Given the description of an element on the screen output the (x, y) to click on. 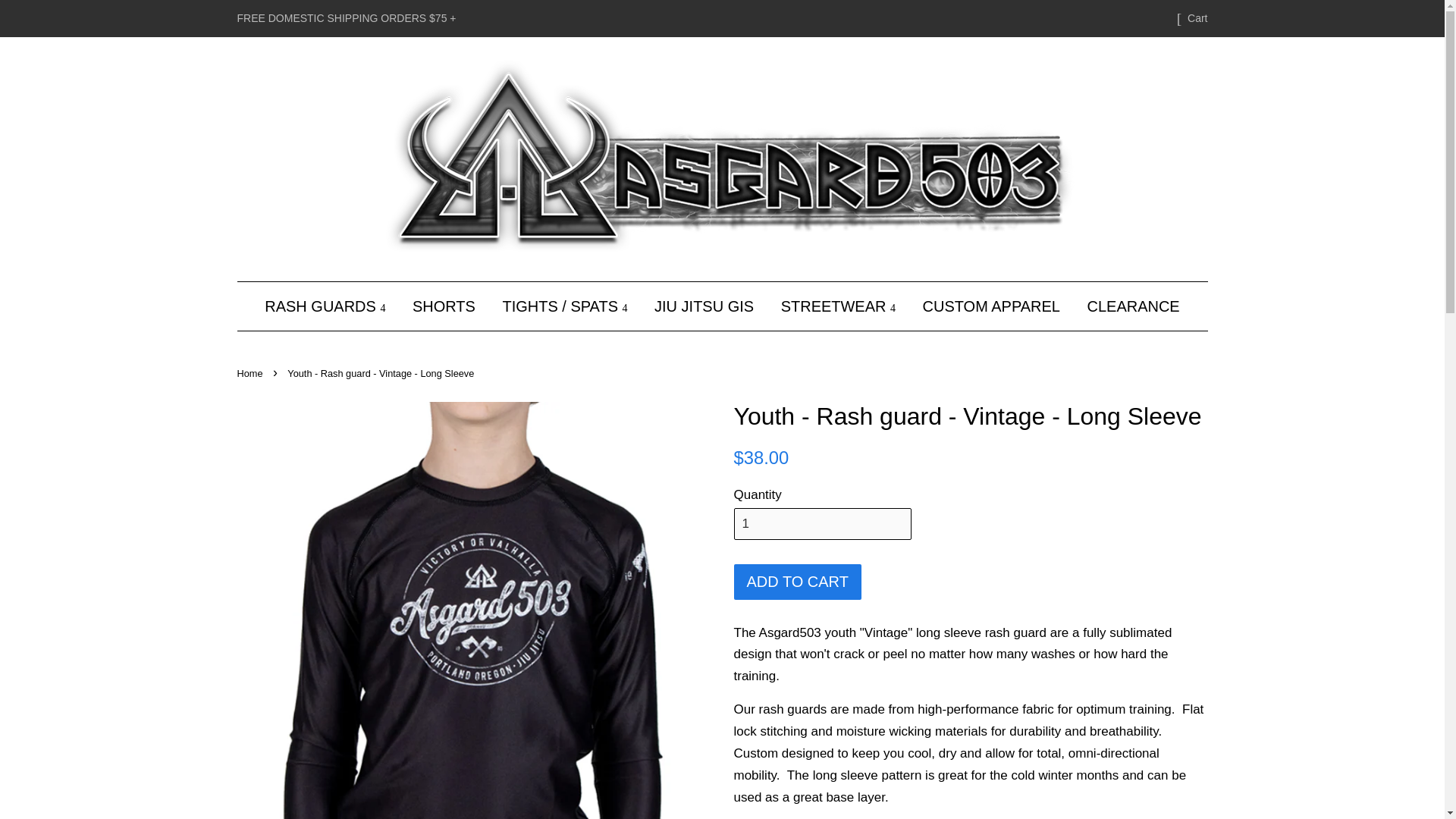
Home (250, 373)
CLEARANCE (1127, 305)
Back to the frontpage (250, 373)
CUSTOM APPAREL (991, 305)
SHORTS (443, 305)
STREETWEAR (838, 305)
RASH GUARDS (330, 305)
1 (822, 523)
Cart (1197, 18)
JIU JITSU GIS (704, 305)
